Given the description of an element on the screen output the (x, y) to click on. 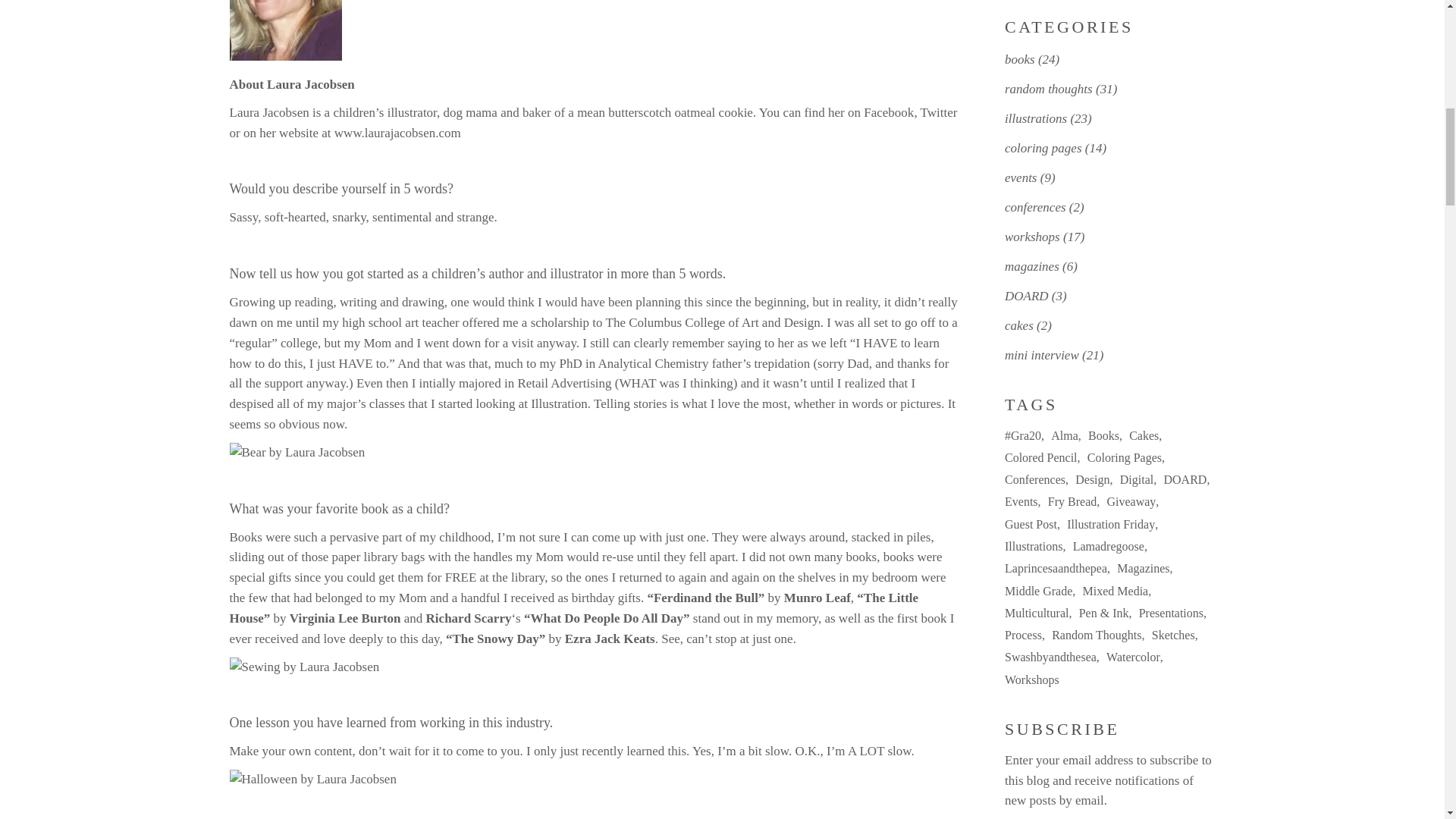
Laura Jacobsen - Facebook (888, 112)
Laura Jacobsen (284, 30)
Laura Jacobsen - Website (397, 133)
Bear by Laura Jacobsen (296, 453)
Laura Jacobsen - Twitter (939, 112)
Sewing by Laura Jacobsen (303, 667)
Halloween by Laura Jacobsen (312, 779)
